Given the description of an element on the screen output the (x, y) to click on. 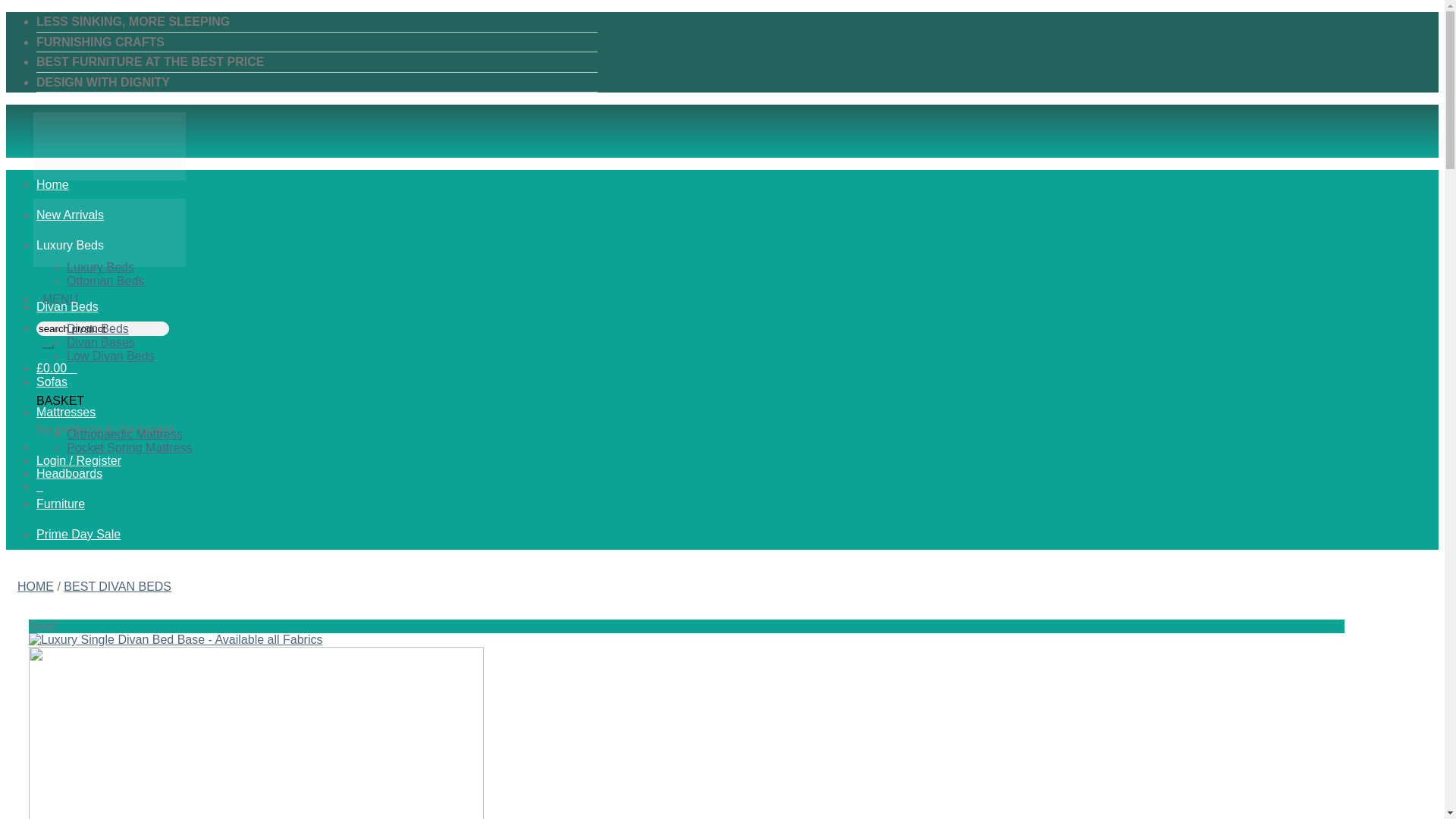
Divan Bases (100, 341)
Pocket Spring Mattress (129, 447)
MENU (60, 298)
Furniture (60, 503)
Search (47, 345)
Luxury Beds (69, 245)
Prime Day Sale (78, 533)
Divan Beds (97, 328)
Bedsland Furniture - Furnish You Home (108, 226)
